Given the description of an element on the screen output the (x, y) to click on. 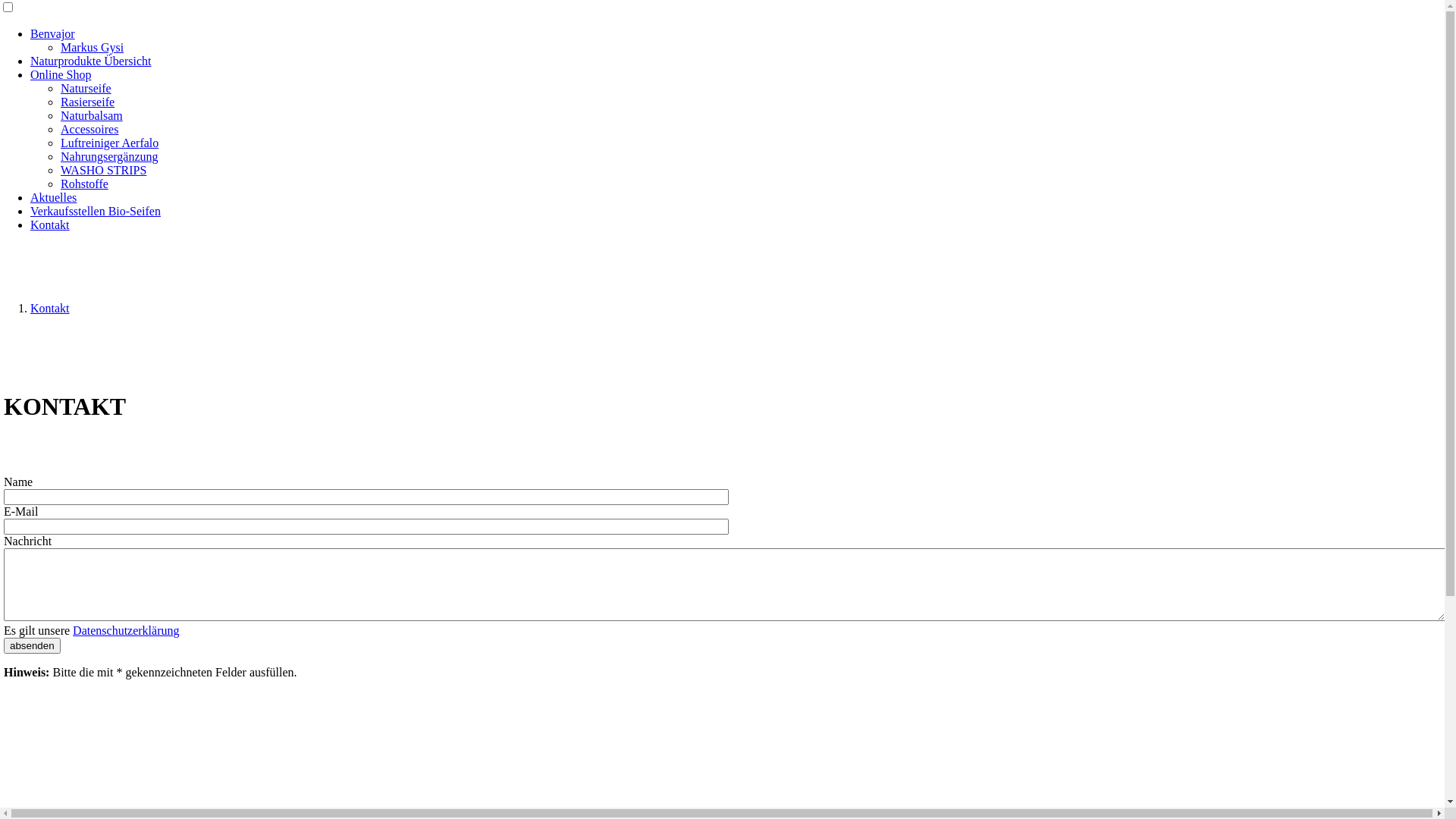
Kontakt Element type: text (49, 307)
Naturseife Element type: text (85, 87)
Accessoires Element type: text (89, 128)
Markus Gysi Element type: text (91, 46)
Verkaufsstellen Bio-Seifen Element type: text (95, 210)
absenden Element type: text (31, 645)
Benvajor Element type: text (52, 33)
Luftreiniger Aerfalo Element type: text (109, 142)
WASHO STRIPS Element type: text (103, 169)
Rohstoffe Element type: text (84, 183)
Kontakt Element type: text (49, 224)
Naturbalsam Element type: text (91, 115)
Rasierseife Element type: text (87, 101)
Online Shop Element type: text (60, 74)
Aktuelles Element type: text (53, 197)
